Given the description of an element on the screen output the (x, y) to click on. 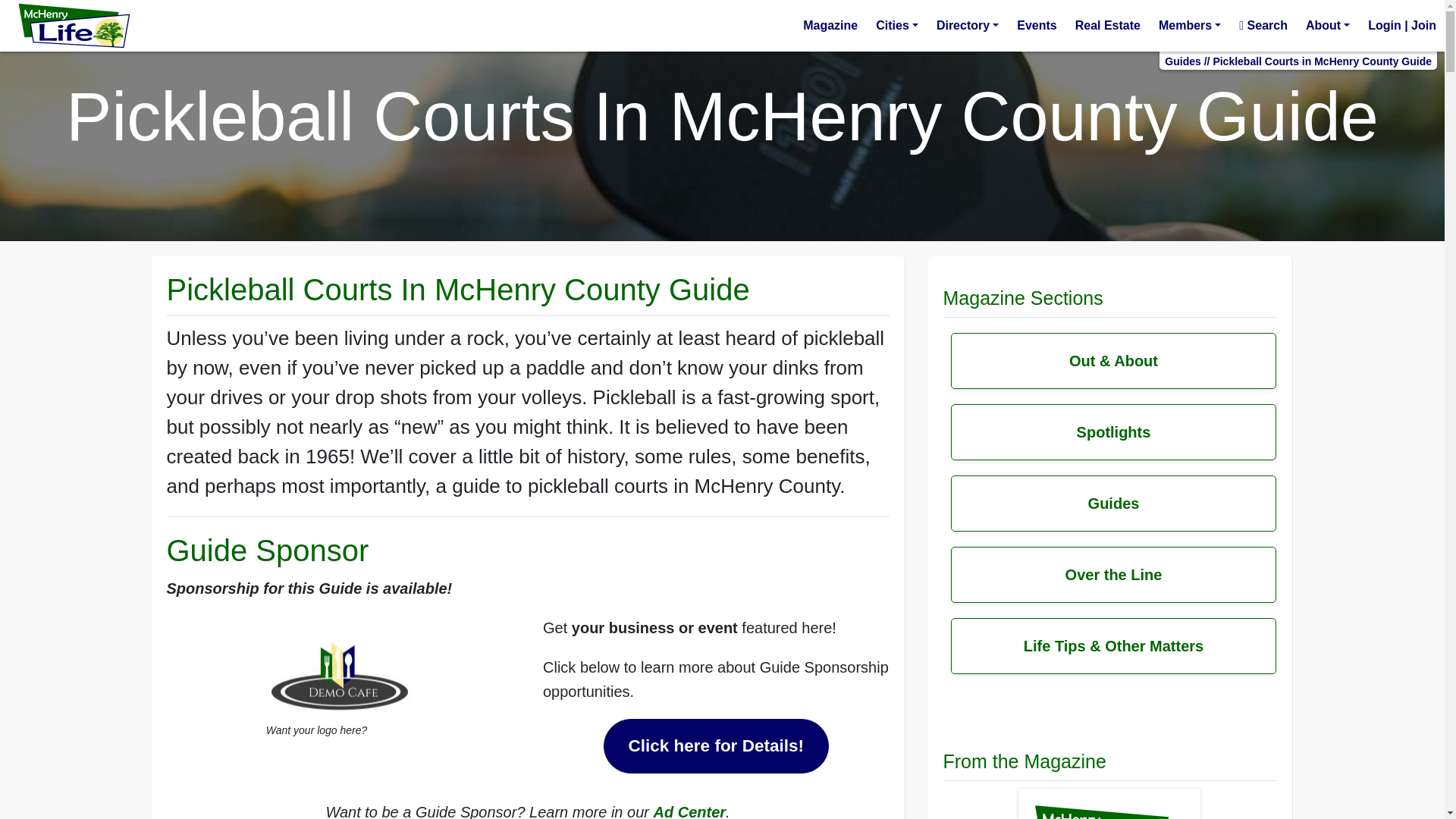
Magazine (829, 25)
McHenry Life (74, 24)
Directory (967, 25)
McHenry Reading Pleasure (829, 25)
Cities (896, 25)
